Given the description of an element on the screen output the (x, y) to click on. 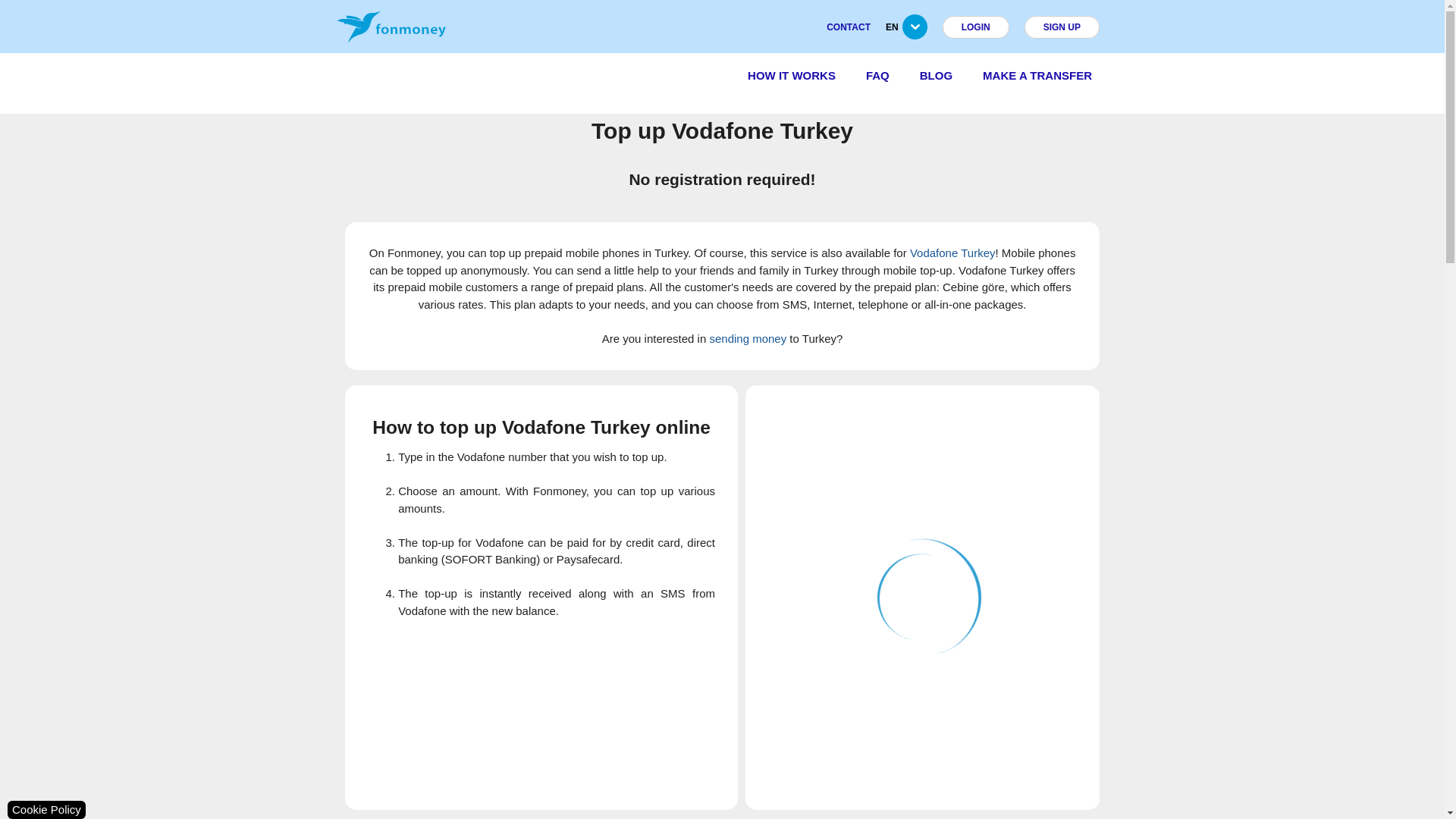
How it works (791, 74)
MAKE A TRANSFER (1037, 74)
FAQ (877, 75)
Vodafone Turkey (952, 252)
FAQ (877, 74)
SIGN UP (1062, 26)
sending money (747, 338)
Blog (936, 74)
EN (914, 32)
MakeATransfer (1037, 74)
